Given the description of an element on the screen output the (x, y) to click on. 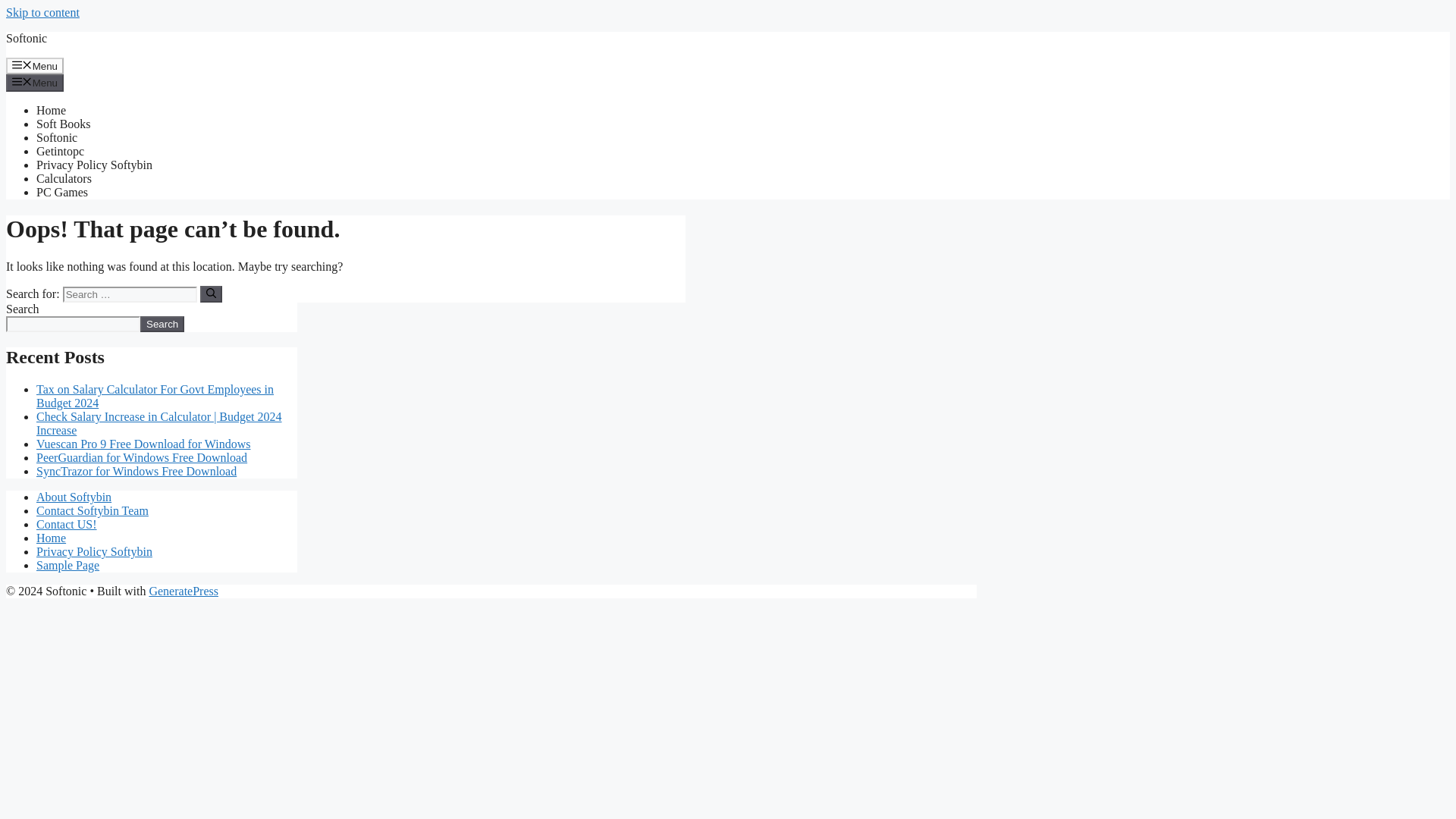
Sample Page (67, 564)
Skip to content (42, 11)
Menu (34, 82)
Privacy Policy Softybin (94, 164)
PC Games (61, 192)
Getintopc (60, 151)
Home (50, 537)
Softonic (25, 38)
Tax on Salary Calculator For Govt Employees in Budget 2024 (154, 396)
About Softybin (74, 496)
Contact Softybin Team (92, 510)
Search (161, 324)
Search for: (129, 294)
Vuescan Pro 9 Free Download for Windows (143, 443)
SyncTrazor for Windows Free Download (135, 471)
